Given the description of an element on the screen output the (x, y) to click on. 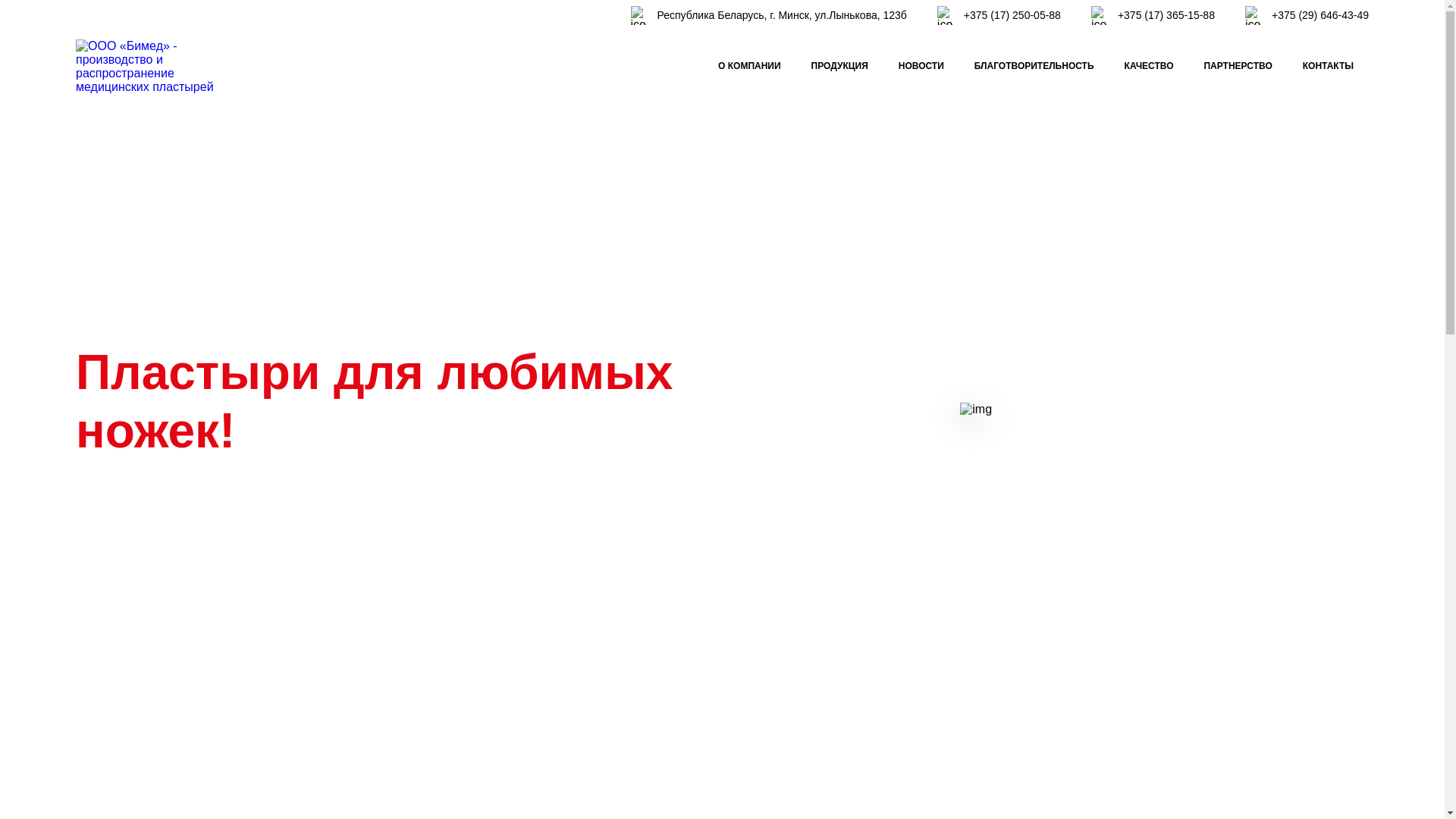
+375 (29) 646-43-49 Element type: text (1319, 15)
+375 (17) 250-05-88 Element type: text (1011, 15)
+375 (17) 365-15-88 Element type: text (1165, 15)
